Given the description of an element on the screen output the (x, y) to click on. 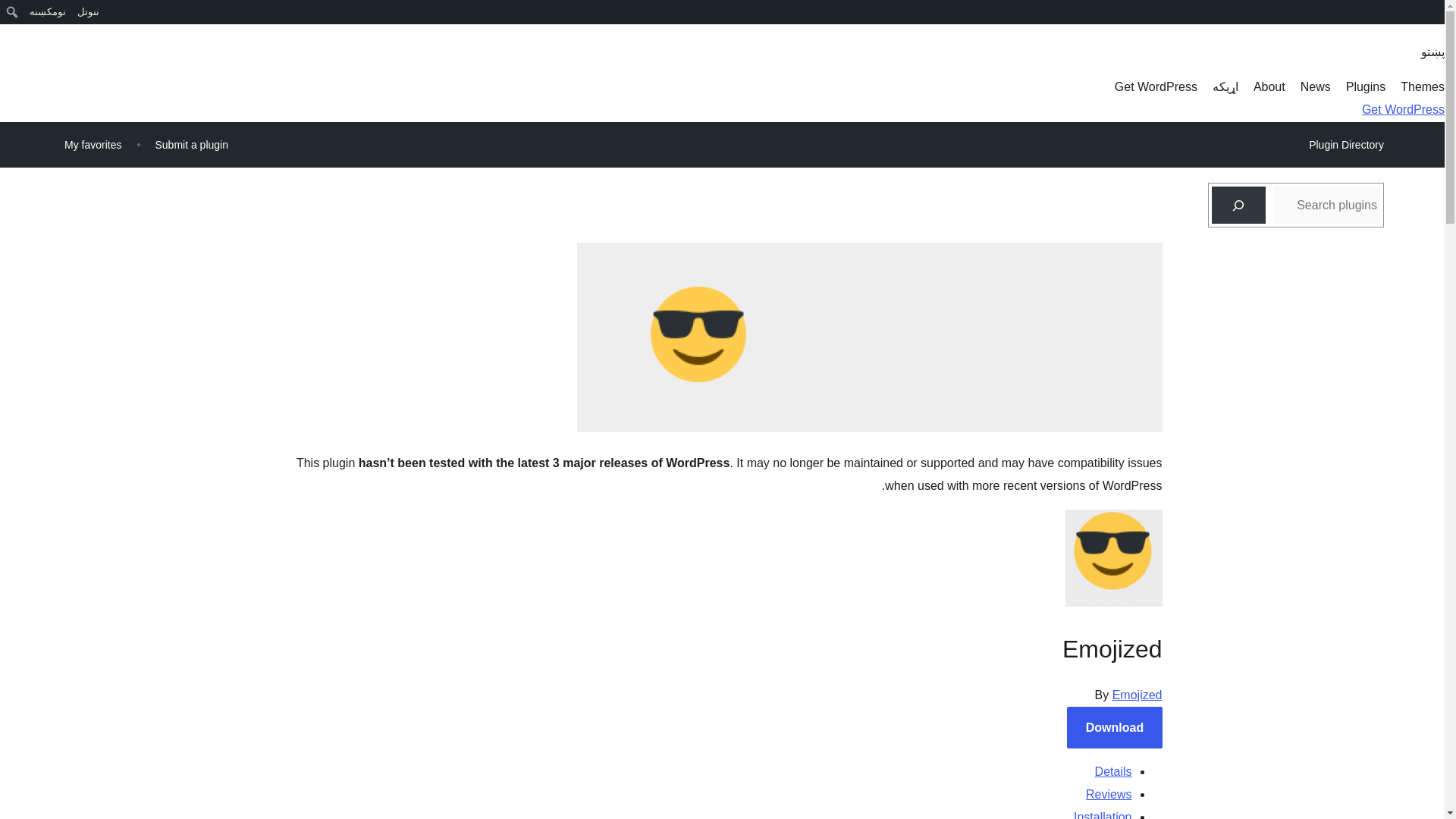
Get WordPress (1155, 87)
Details (1113, 771)
Emojized (1136, 694)
Submit a plugin (191, 144)
About (1269, 87)
Plugins (1365, 87)
Reviews (1108, 793)
My favorites (93, 144)
Download (1114, 727)
Plugin Directory (1345, 144)
Installation (1103, 814)
News (1315, 87)
